Given the description of an element on the screen output the (x, y) to click on. 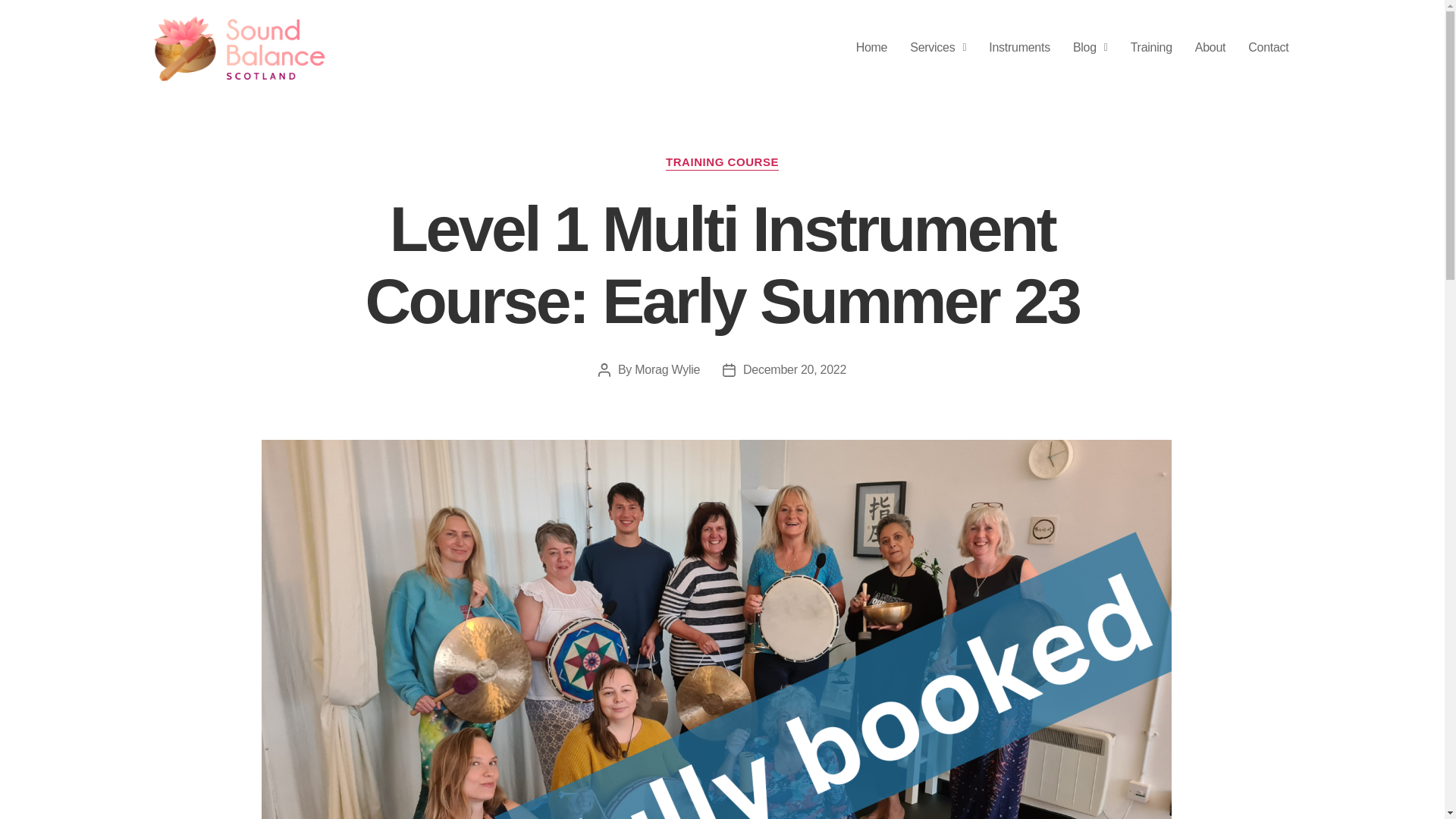
Contact (1268, 47)
Blog (1090, 47)
December 20, 2022 (793, 369)
Home (871, 47)
Instruments (1018, 47)
About (1209, 47)
TRAINING COURSE (721, 162)
Training (1151, 47)
Morag Wylie (667, 369)
Services (937, 47)
